Given the description of an element on the screen output the (x, y) to click on. 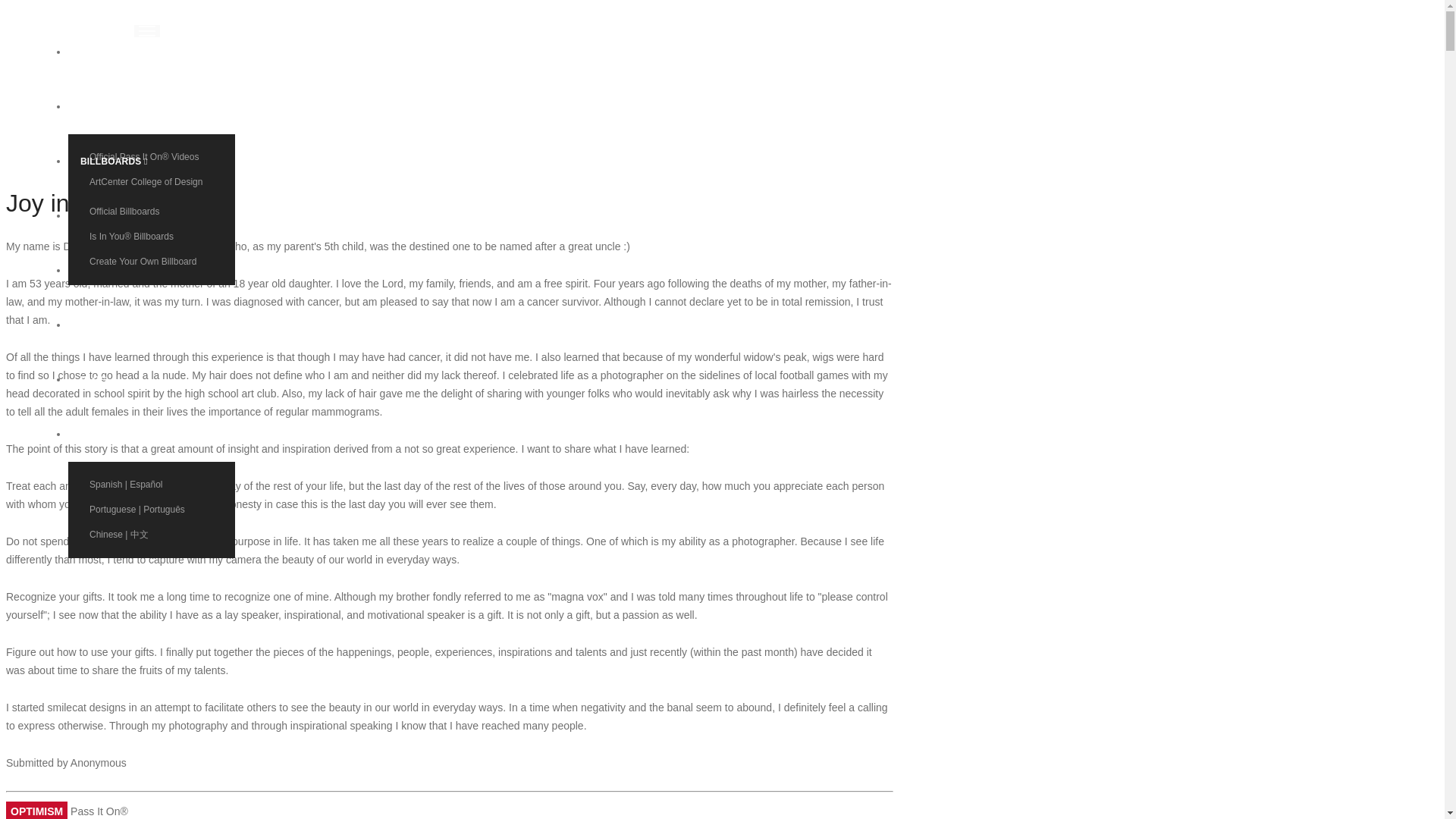
Official Billboards (151, 211)
NEWSPAPERS (114, 216)
toggle navigation (146, 30)
VIDEOS (114, 106)
QUOTES (114, 52)
BLOG (114, 379)
RADIO (114, 325)
PODCAST (114, 270)
Create Your Own Billboard (151, 260)
ArtCenter College of Design PSAs (151, 187)
